Given the description of an element on the screen output the (x, y) to click on. 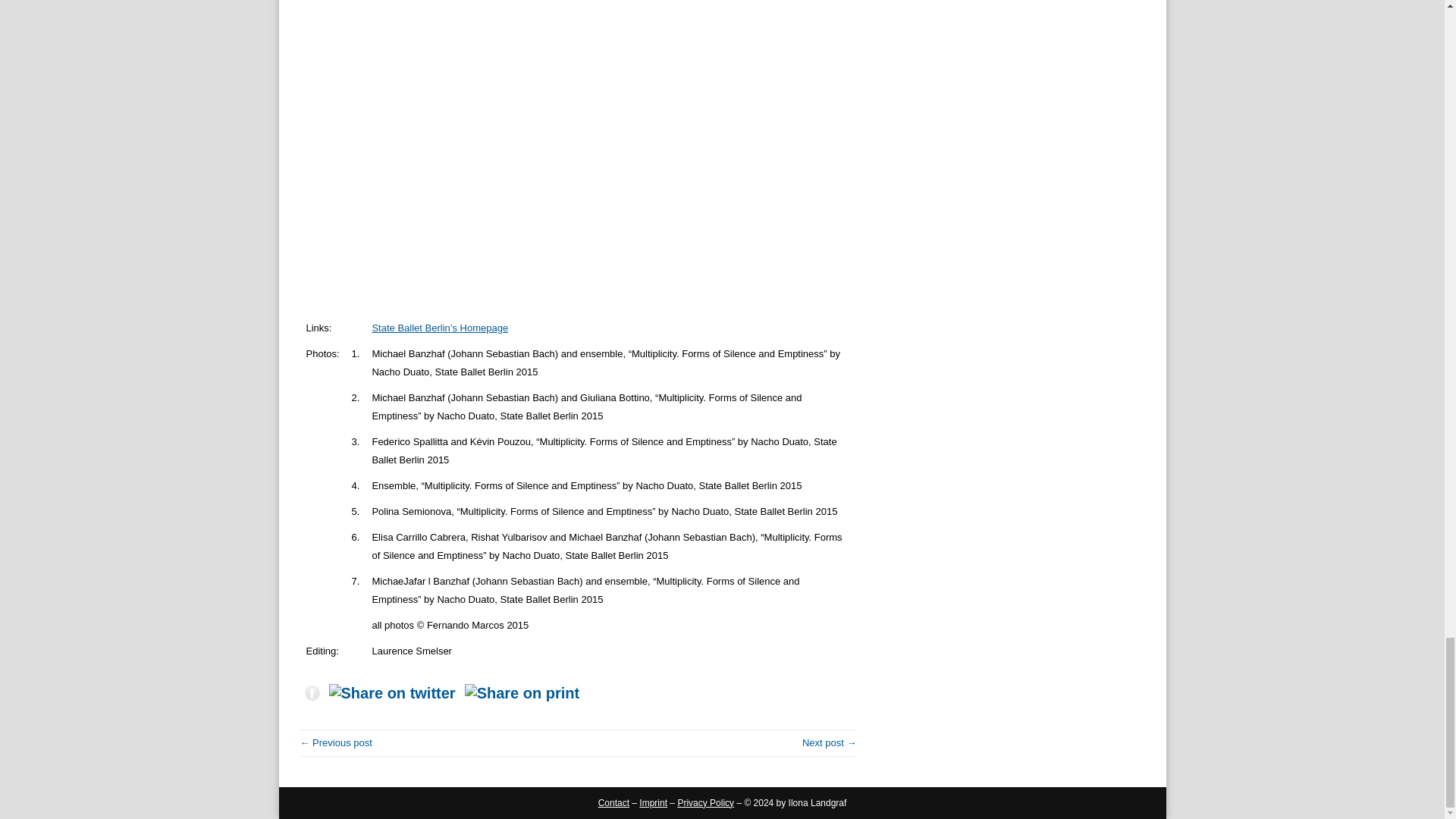
Storytellers (335, 742)
print (522, 692)
twitter (392, 692)
facebook (311, 692)
A Well Assembled Spectrum (829, 742)
